Given the description of an element on the screen output the (x, y) to click on. 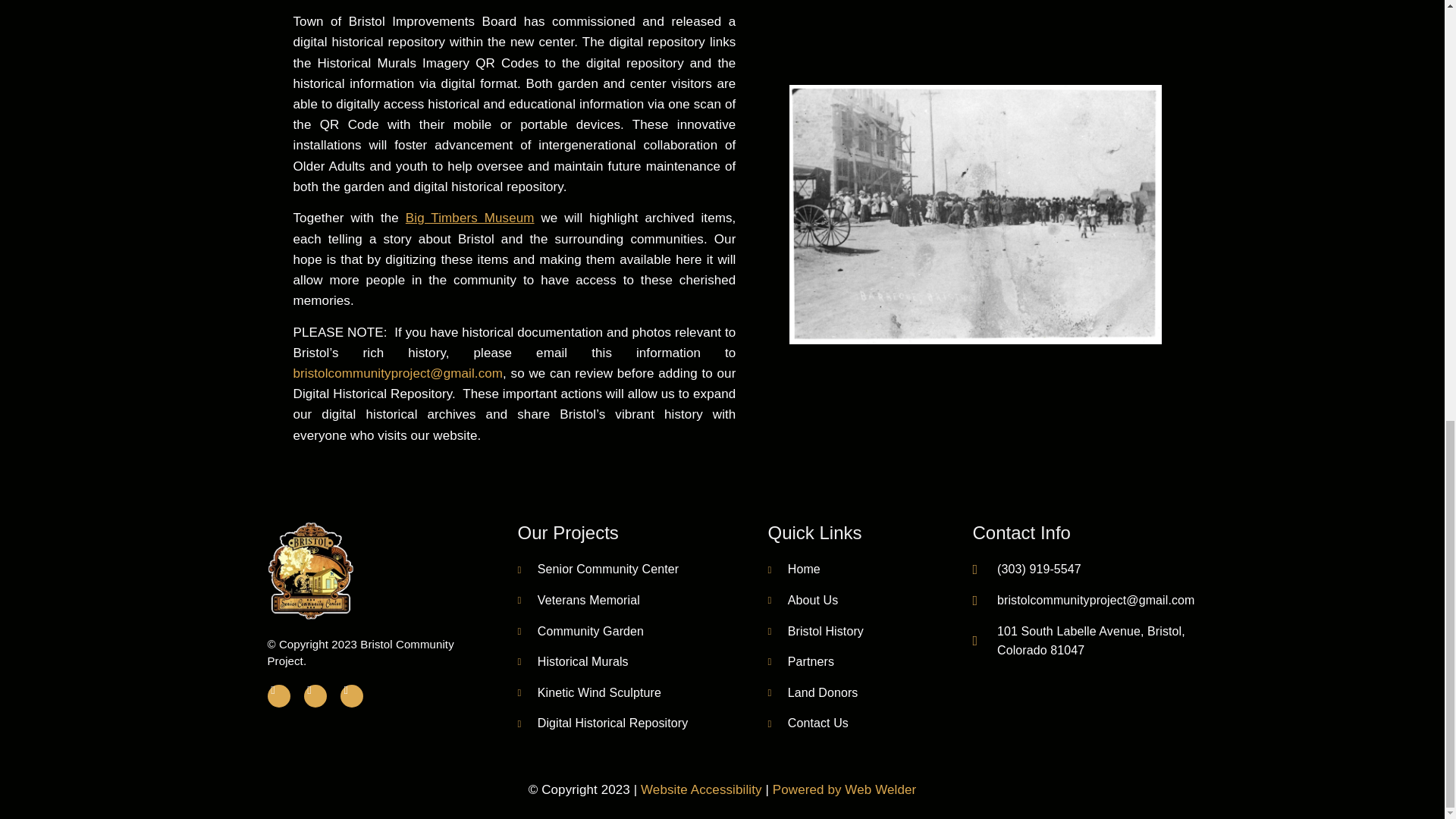
Kinetic Wind Sculpture (588, 692)
Bristol History (815, 631)
Historical Murals (571, 661)
Digital Historical Repository (601, 723)
Senior Community Center (597, 569)
Land Donors (812, 692)
Veterans Memorial (577, 600)
Big Timbers Museum (470, 217)
About Us (802, 600)
Community Garden (579, 631)
Home (793, 569)
Contact Us (807, 723)
Partners (800, 661)
